Given the description of an element on the screen output the (x, y) to click on. 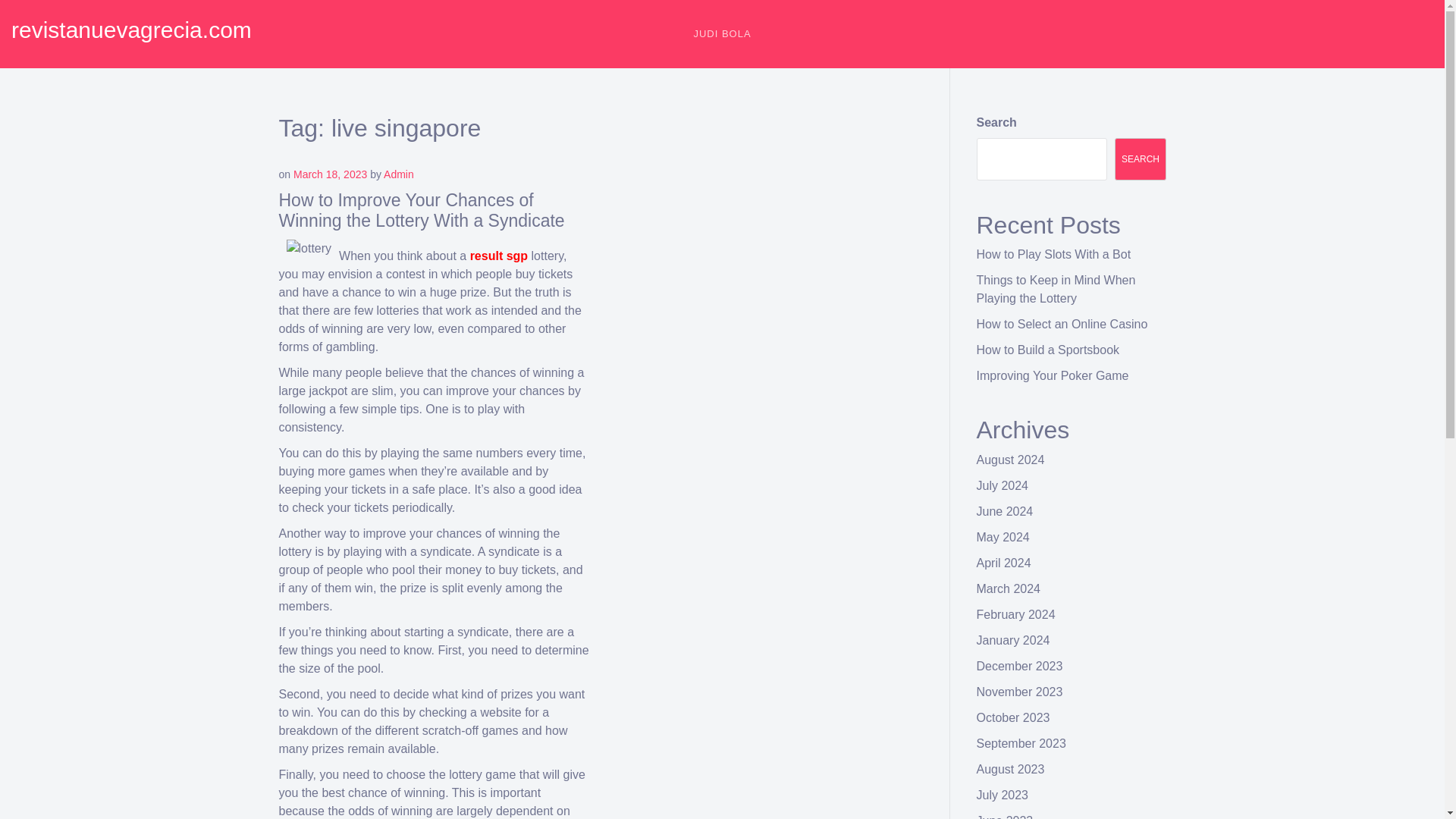
SEARCH (1140, 159)
result sgp (498, 255)
January 2024 (1012, 640)
Improving Your Poker Game (1052, 375)
JUDI BOLA (721, 33)
December 2023 (1019, 666)
July 2023 (1002, 794)
April 2024 (1003, 562)
March 2024 (1008, 588)
